Given the description of an element on the screen output the (x, y) to click on. 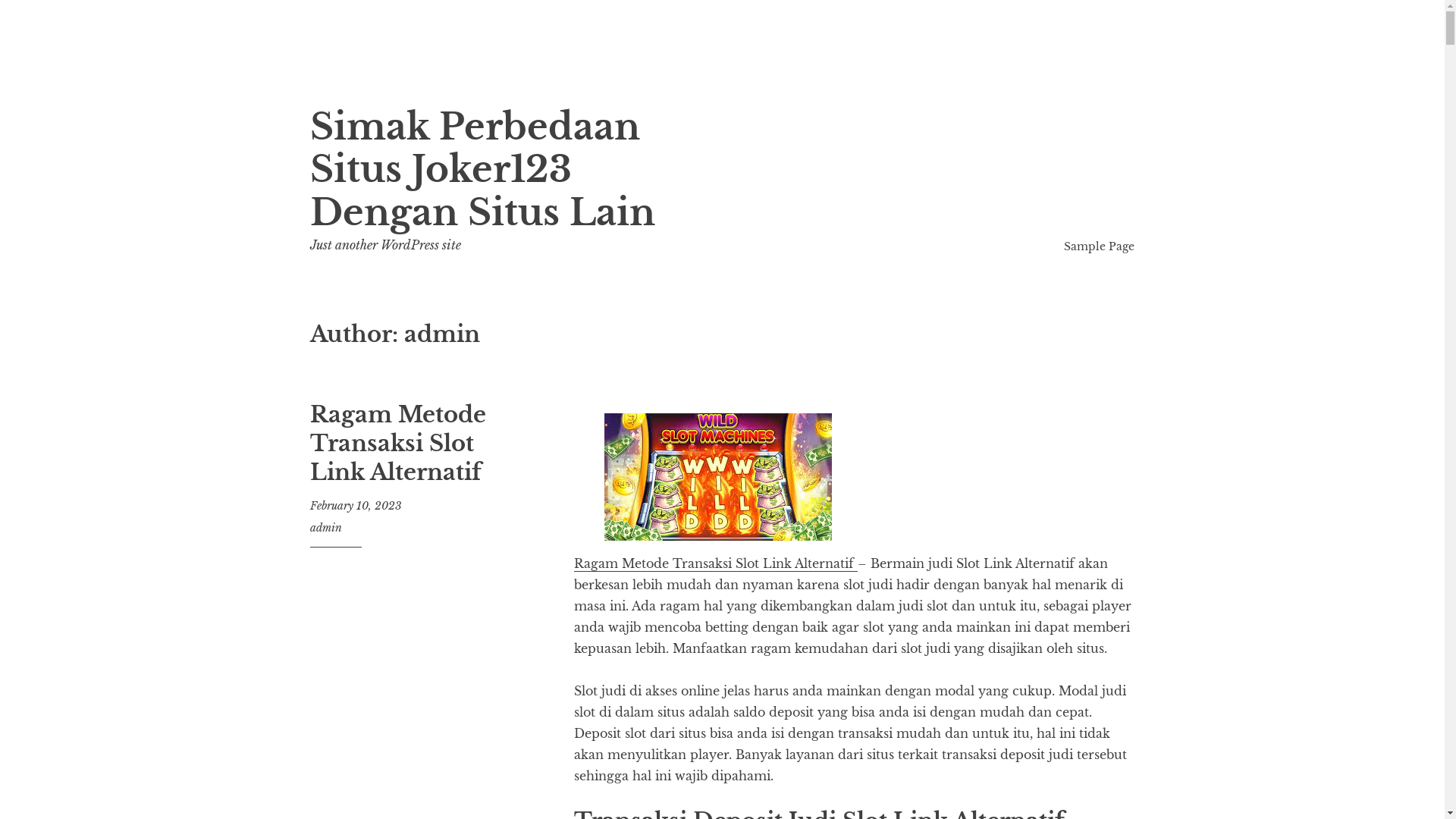
Simak Perbedaan Situs Joker123 Dengan Situs Lain Element type: text (481, 169)
February 10, 2023 Element type: text (355, 505)
Sample Page Element type: text (1098, 246)
Skip to content Element type: text (309, 84)
Ragam Metode Transaksi Slot Link Alternatif Element type: text (715, 563)
admin Element type: text (325, 527)
Ragam Metode Transaksi Slot Link Alternatif Element type: text (397, 443)
